Given the description of an element on the screen output the (x, y) to click on. 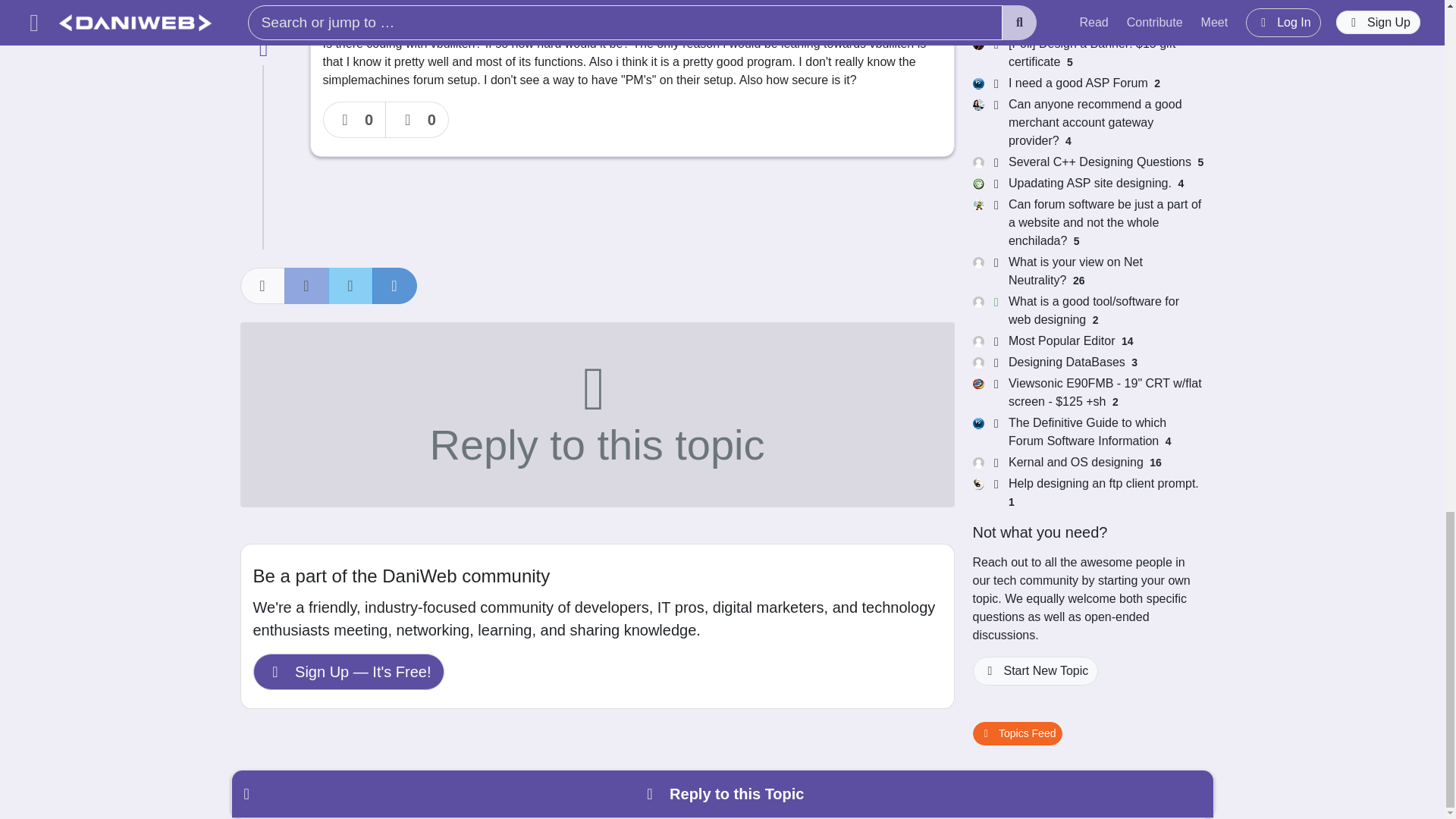
0 (416, 119)
Share (261, 285)
0 (355, 119)
Turbo4reek (363, 2)
Facebook (306, 285)
